Given the description of an element on the screen output the (x, y) to click on. 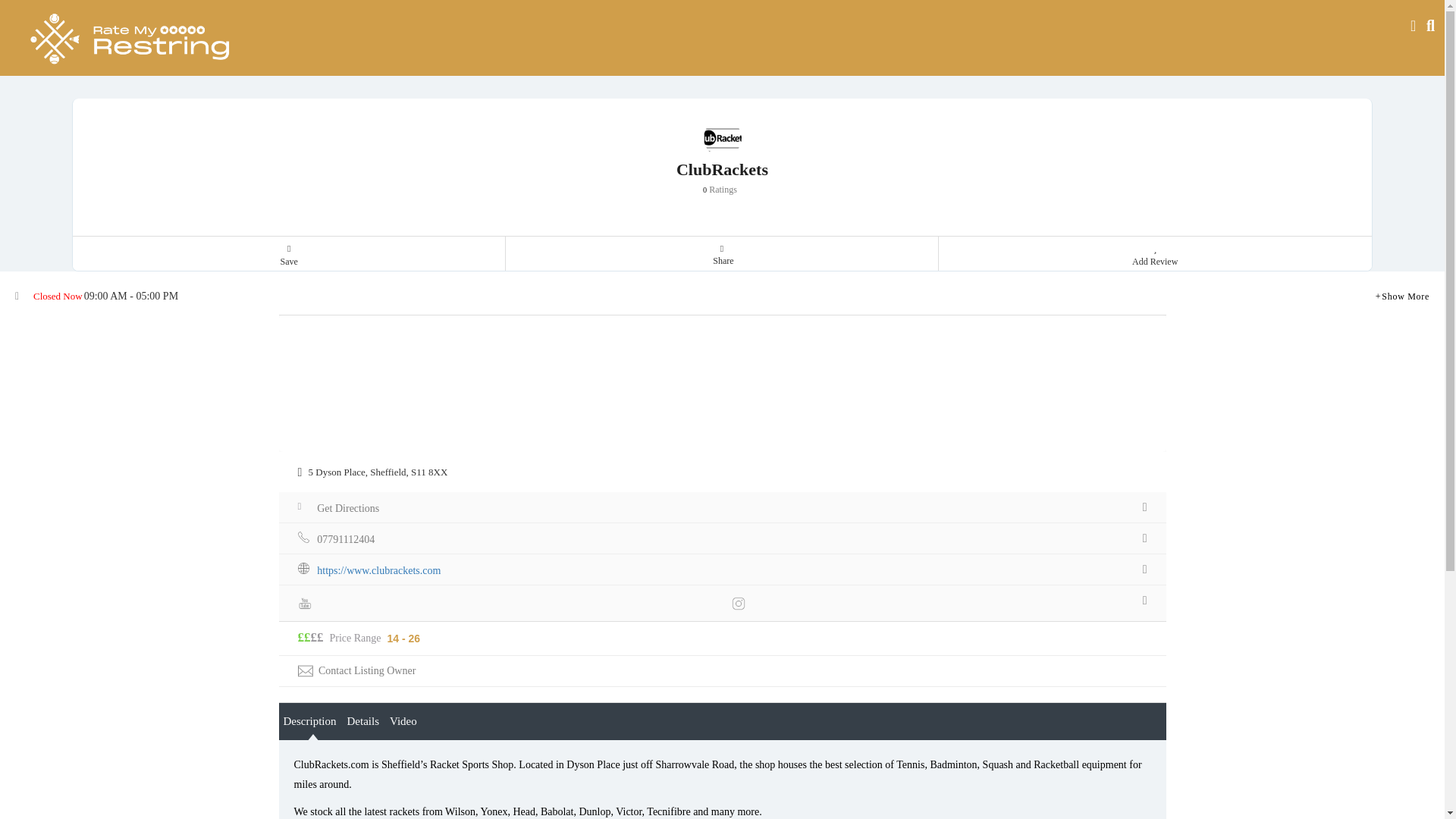
Submit (413, 502)
